Given the description of an element on the screen output the (x, y) to click on. 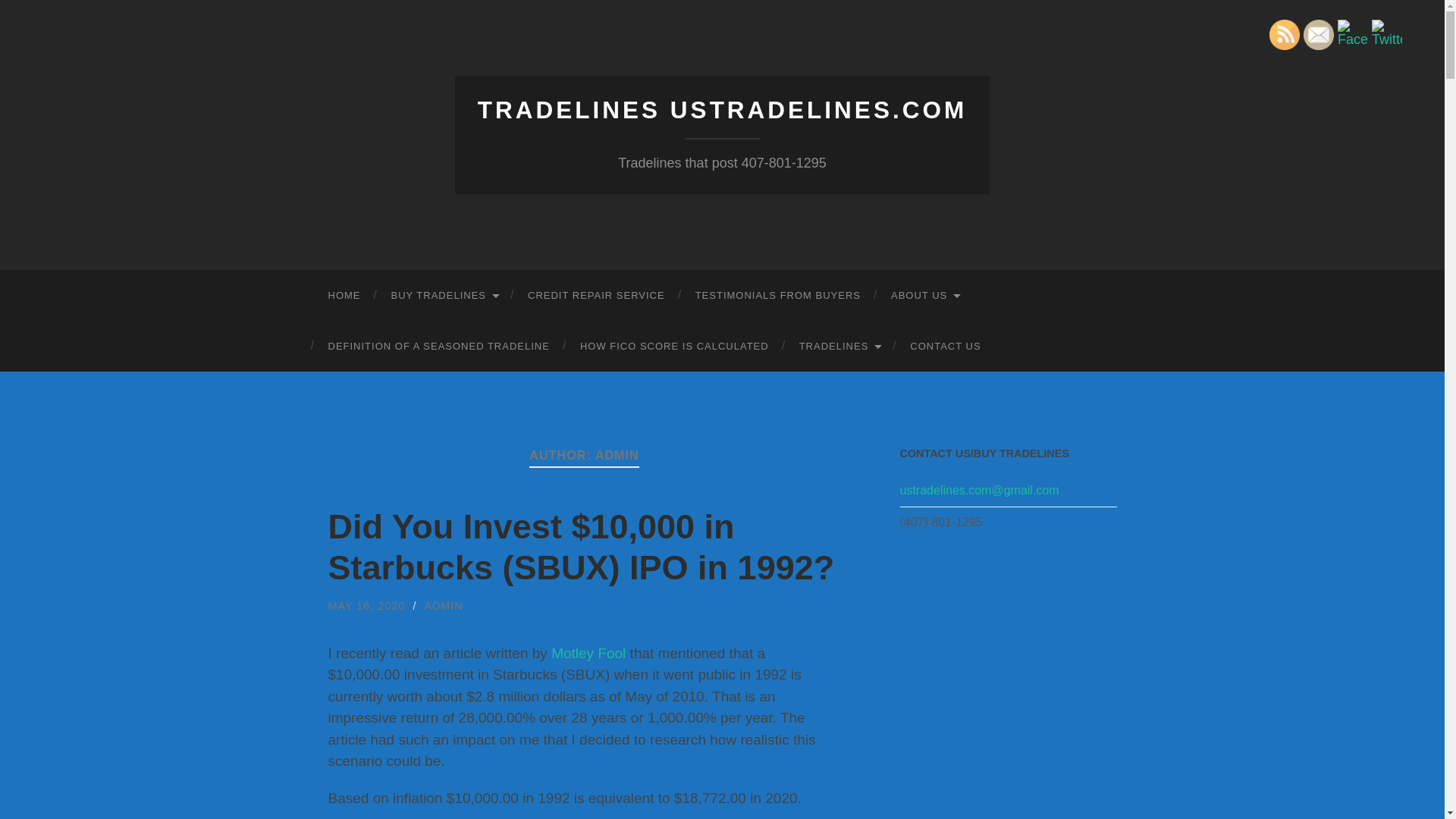
Follow by Email (1318, 34)
BUY TRADELINES (444, 295)
DEFINITION OF A SEASONED TRADELINE (438, 346)
HOW FICO SCORE IS CALCULATED (674, 346)
Facebook (1353, 33)
TRADELINES (839, 346)
HOME (344, 295)
TRADELINES USTRADELINES.COM (721, 109)
CREDIT REPAIR SERVICE (595, 295)
Twitter (1386, 33)
ABOUT US (925, 295)
TESTIMONIALS FROM BUYERS (777, 295)
RSS (1284, 34)
Posts by admin (443, 605)
